Given the description of an element on the screen output the (x, y) to click on. 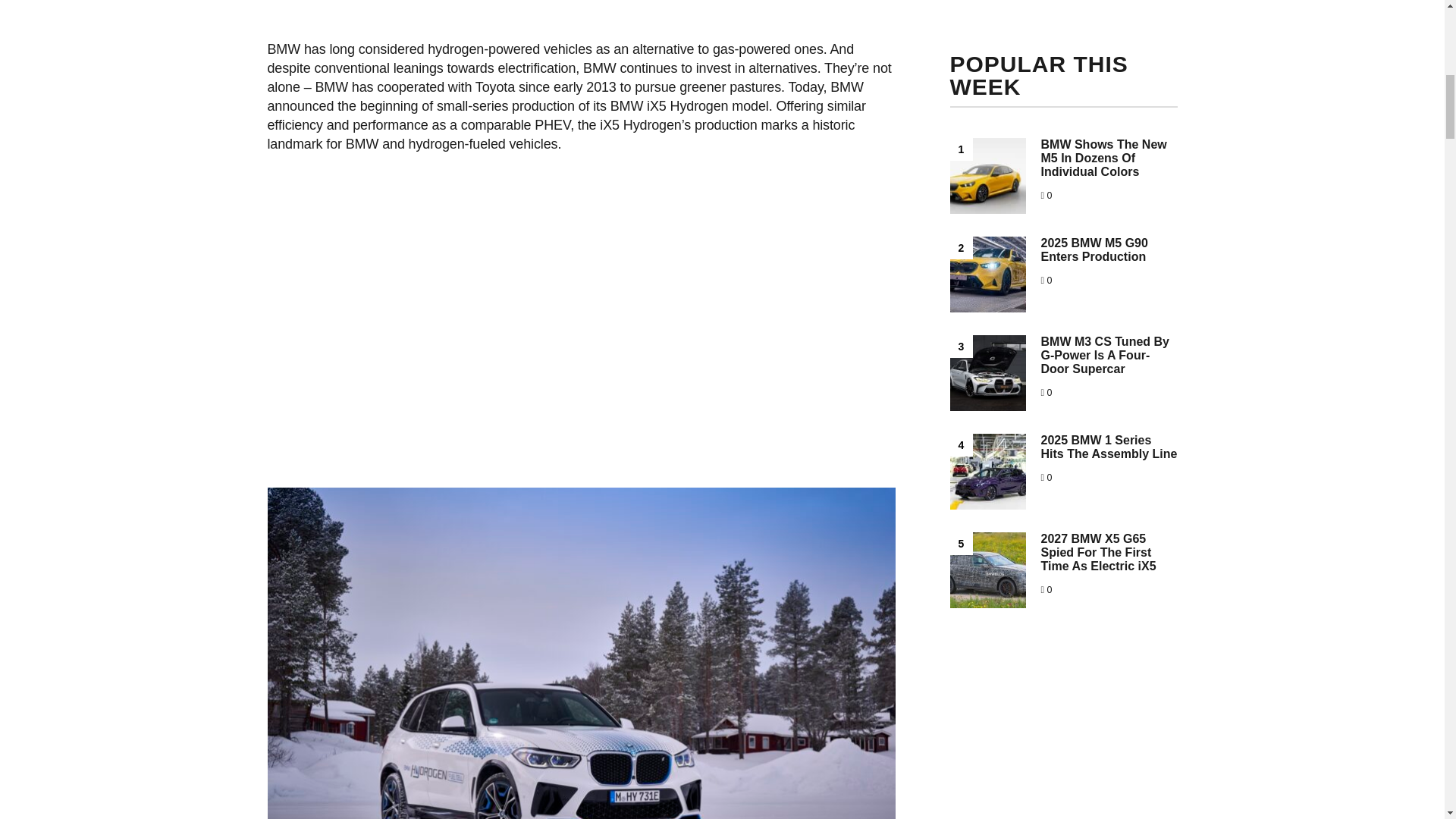
BMW Shows The New M5 In Dozens Of Individual Colors (1103, 158)
2025 BMW M5 G90 Enters Production (1094, 249)
BMW M3 CS Tuned By G-Power Is A Four-Door Supercar (1105, 354)
